Given the description of an element on the screen output the (x, y) to click on. 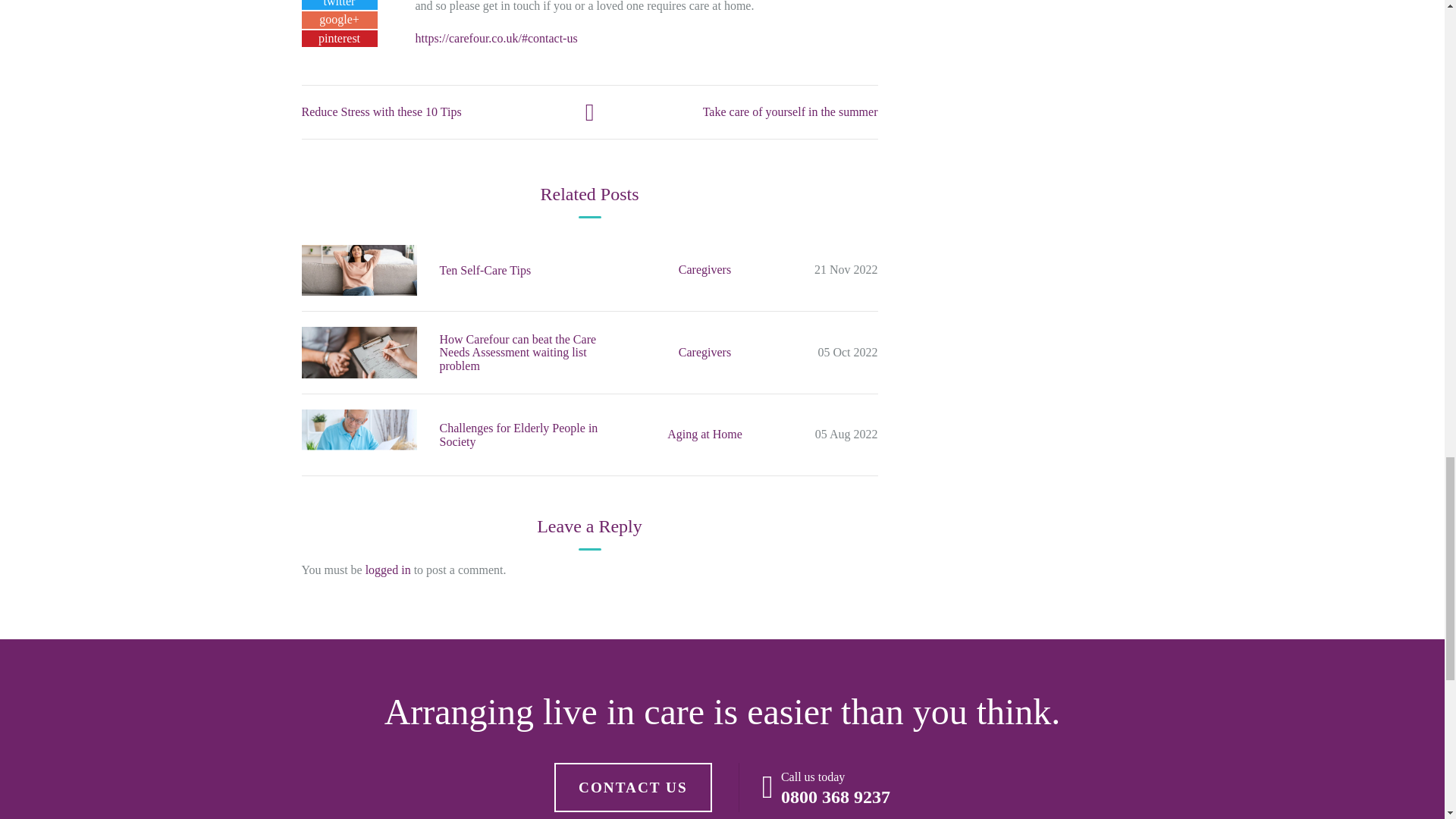
Ten Self-Care Tips (358, 270)
Care Needs Assessment - Carefour (358, 352)
Carefour - Challenges for Elderly People in Society (358, 435)
